Given the description of an element on the screen output the (x, y) to click on. 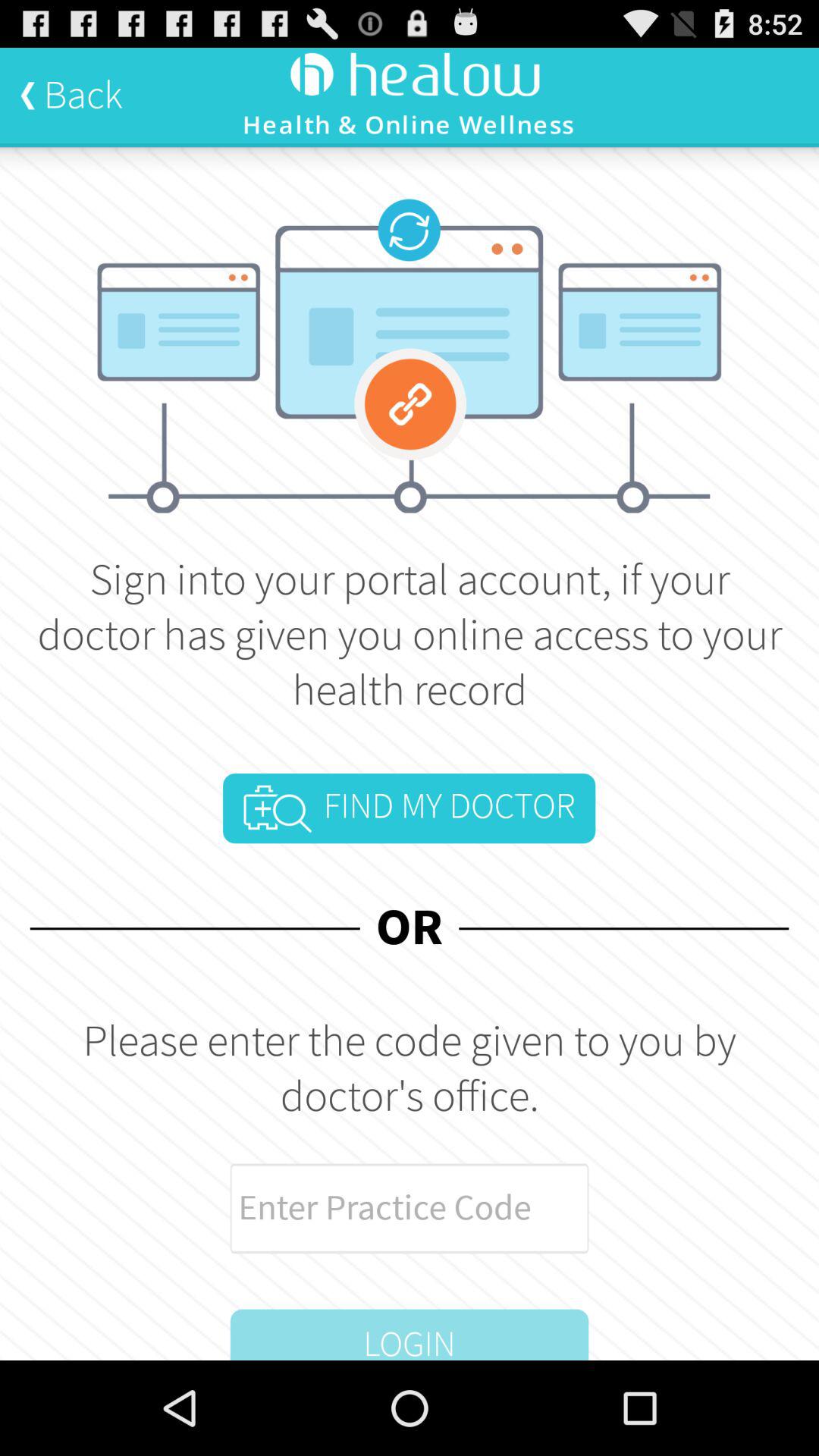
scroll to the login item (409, 1334)
